Given the description of an element on the screen output the (x, y) to click on. 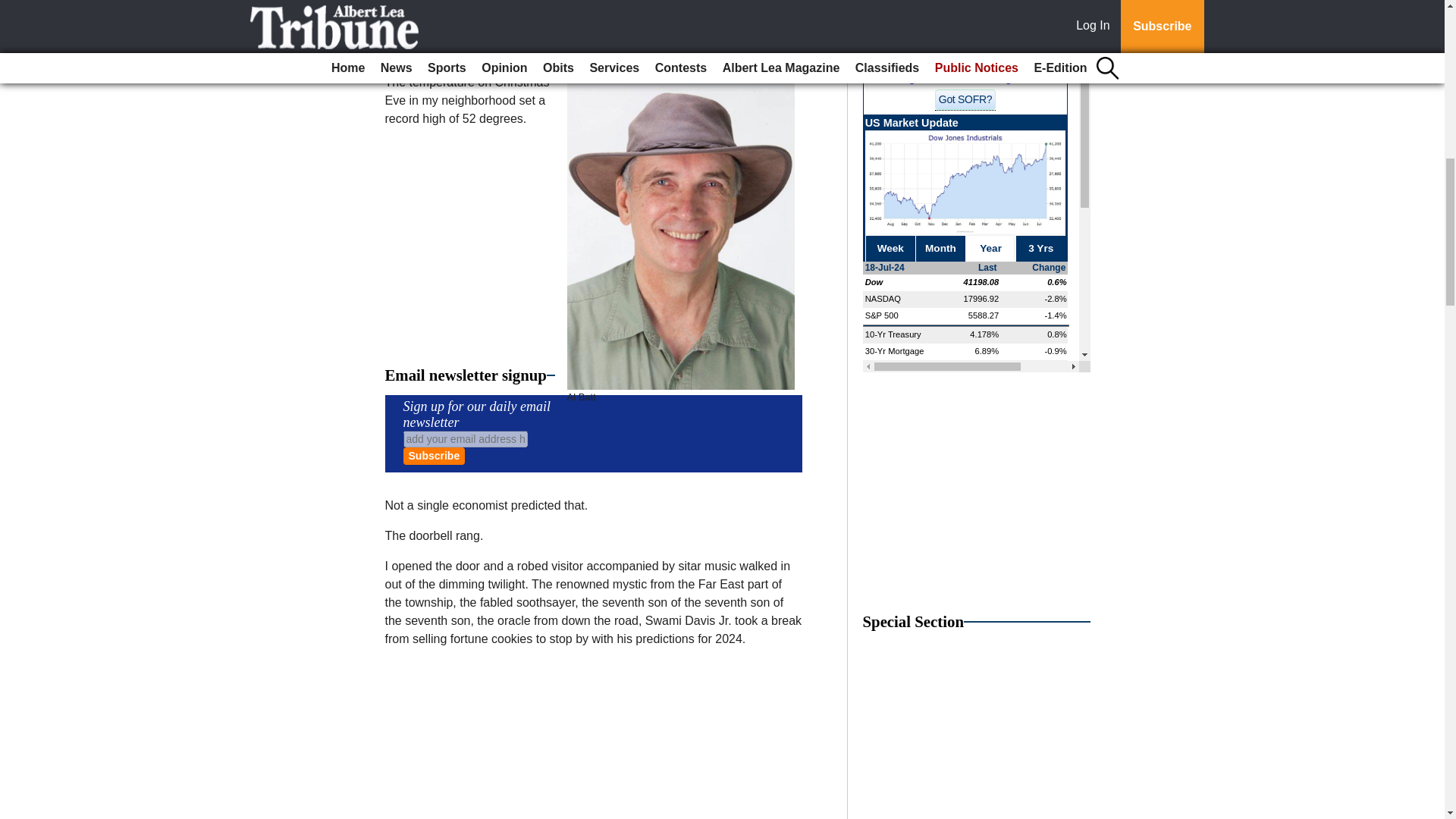
US Market Update (976, 219)
Subscribe (434, 456)
